Given the description of an element on the screen output the (x, y) to click on. 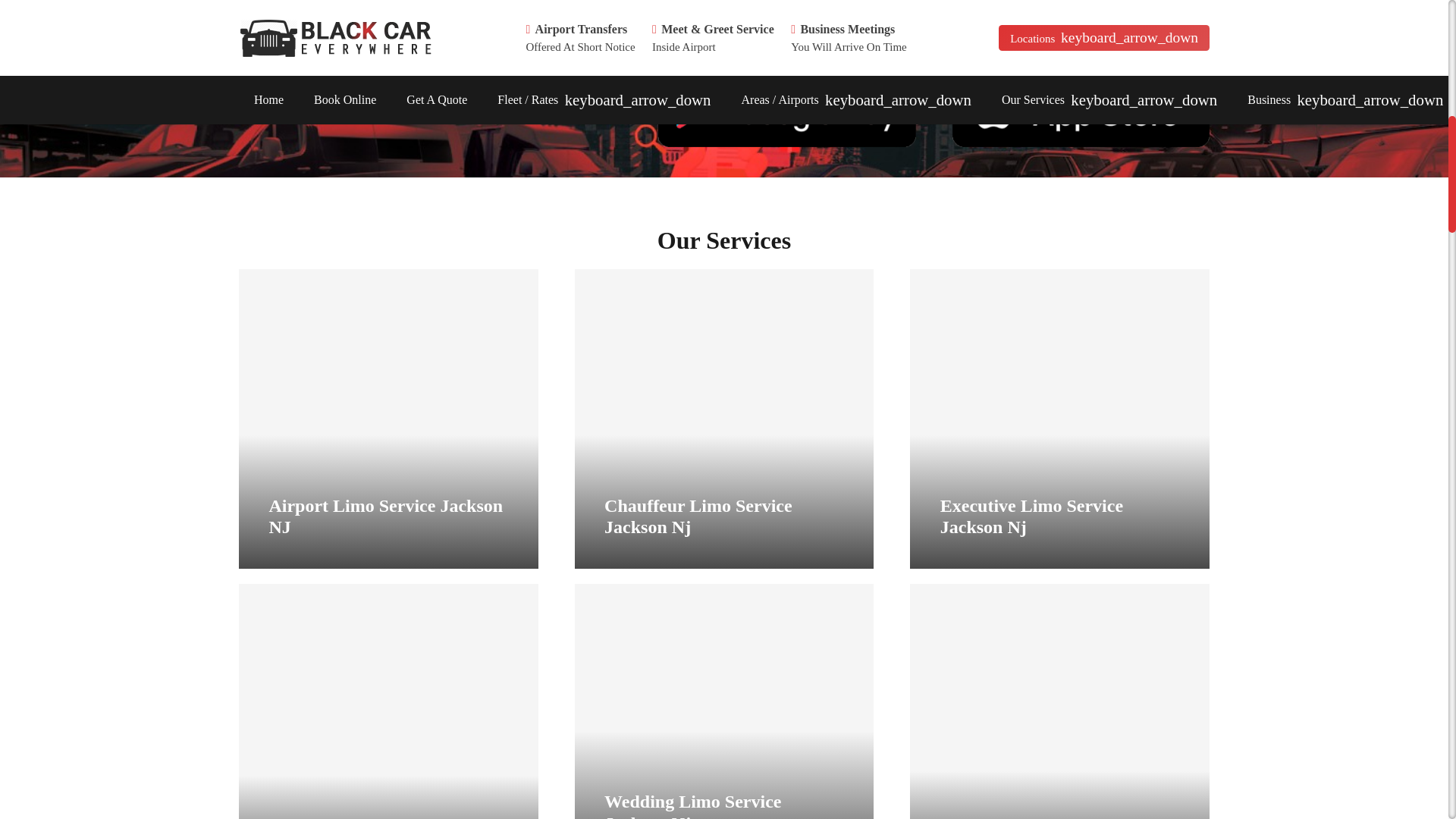
Back to top (1418, 26)
